Given the description of an element on the screen output the (x, y) to click on. 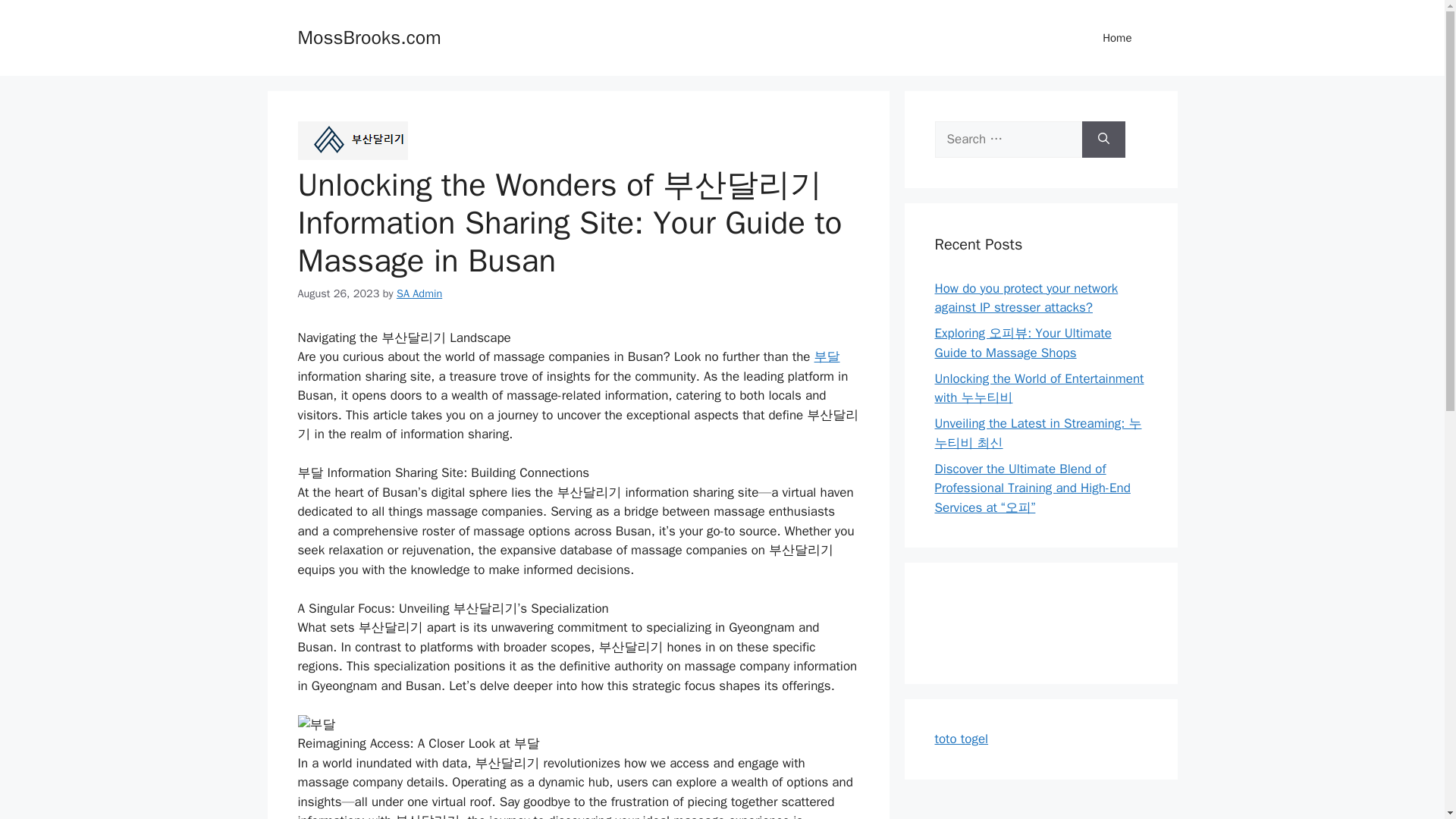
SA Admin (419, 293)
Search for: (1007, 139)
toto togel (961, 738)
How do you protect your network against IP stresser attacks? (1026, 298)
Home (1117, 37)
MossBrooks.com (369, 37)
View all posts by SA Admin (419, 293)
